Given the description of an element on the screen output the (x, y) to click on. 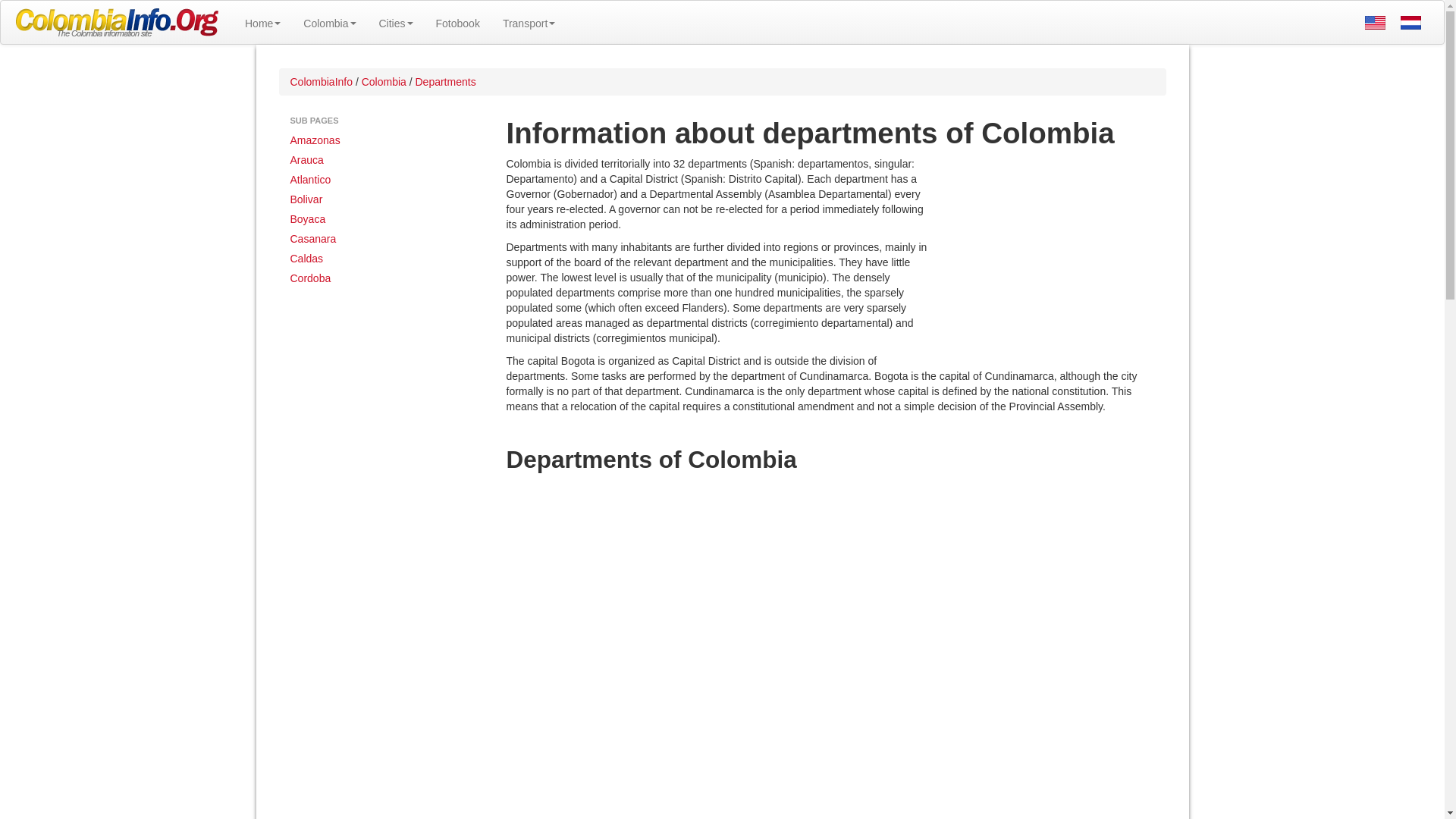
Home (262, 23)
Cities (394, 23)
Advertisement (1047, 254)
Colombia (329, 23)
